Given the description of an element on the screen output the (x, y) to click on. 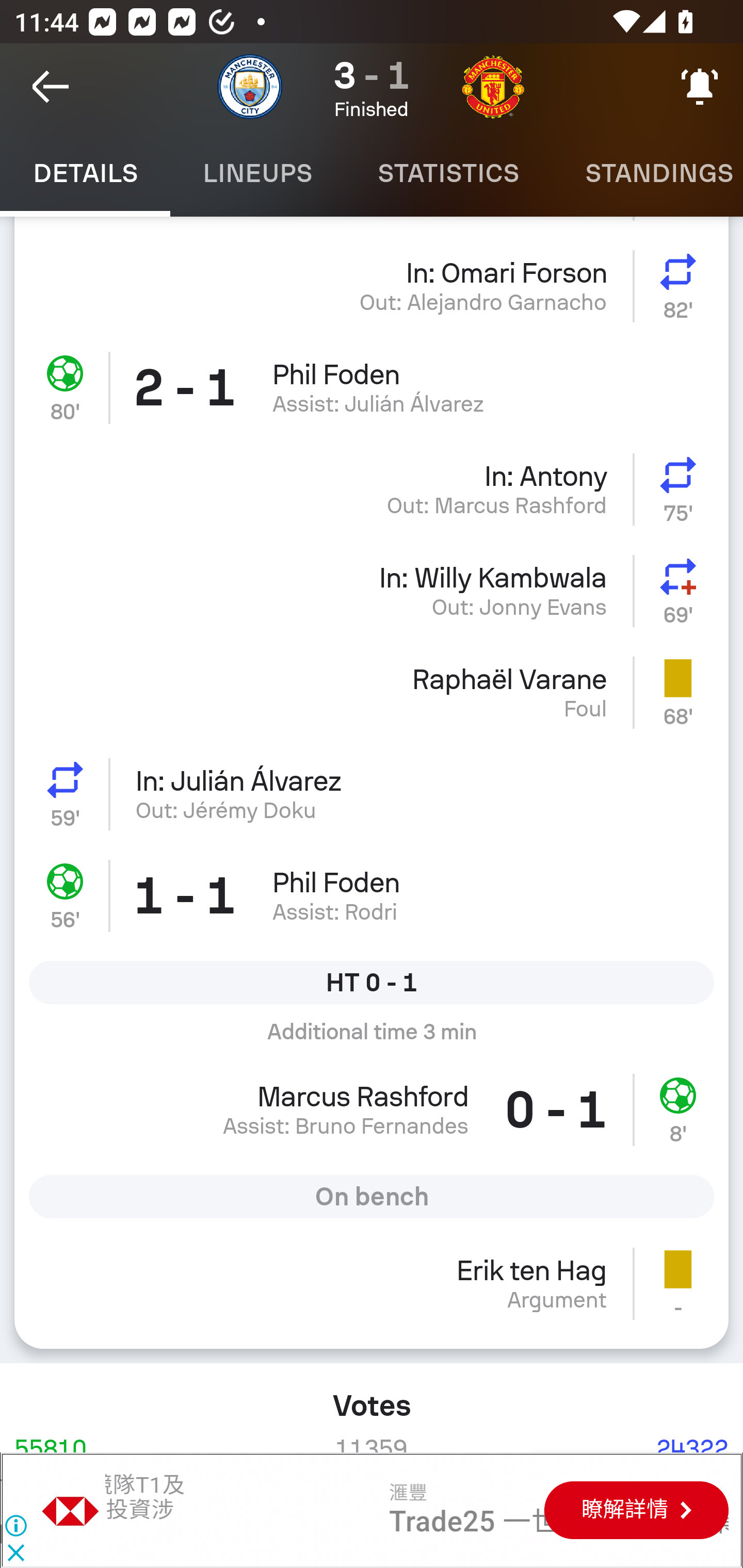
Navigate up (50, 86)
Lineups LINEUPS (257, 173)
Statistics STATISTICS (448, 173)
Standings STANDINGS (647, 173)
In: Antony Out: Marcus Rashford Substitution 75' (371, 489)
Raphaël Varane Foul Yellow card 68' (371, 692)
Goal 56'  1  -  1  Phil Foden Assist: Rodri (371, 896)
HT 0 - 1 (371, 983)
Additional time 3 min (371, 1038)
On bench (371, 1196)
Erik ten Hag Argument Yellow card - (371, 1290)
滙豐 (71, 1509)
瞭解詳情 (636, 1511)
